Given the description of an element on the screen output the (x, y) to click on. 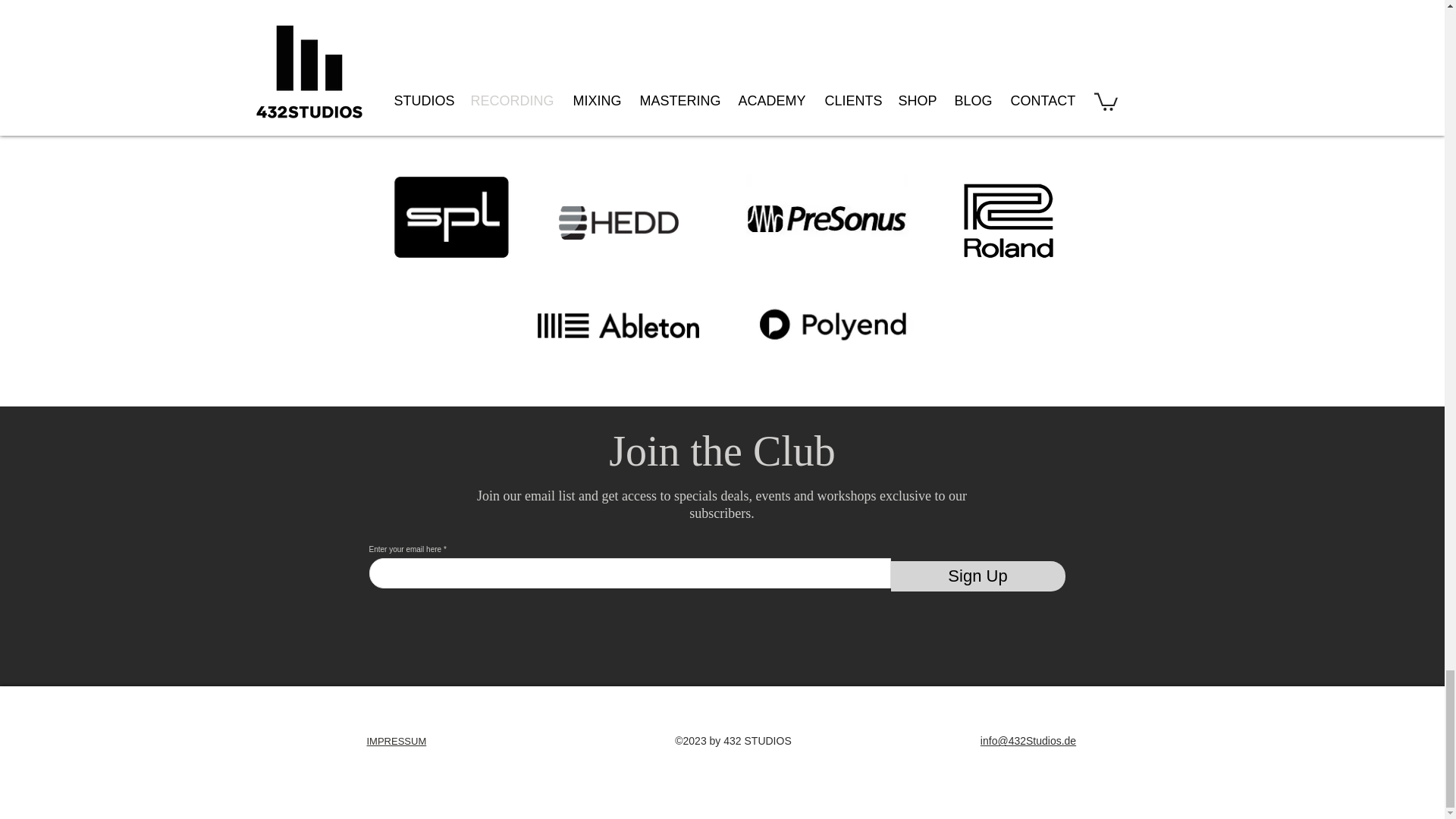
Shop Now (294, 2)
